Given the description of an element on the screen output the (x, y) to click on. 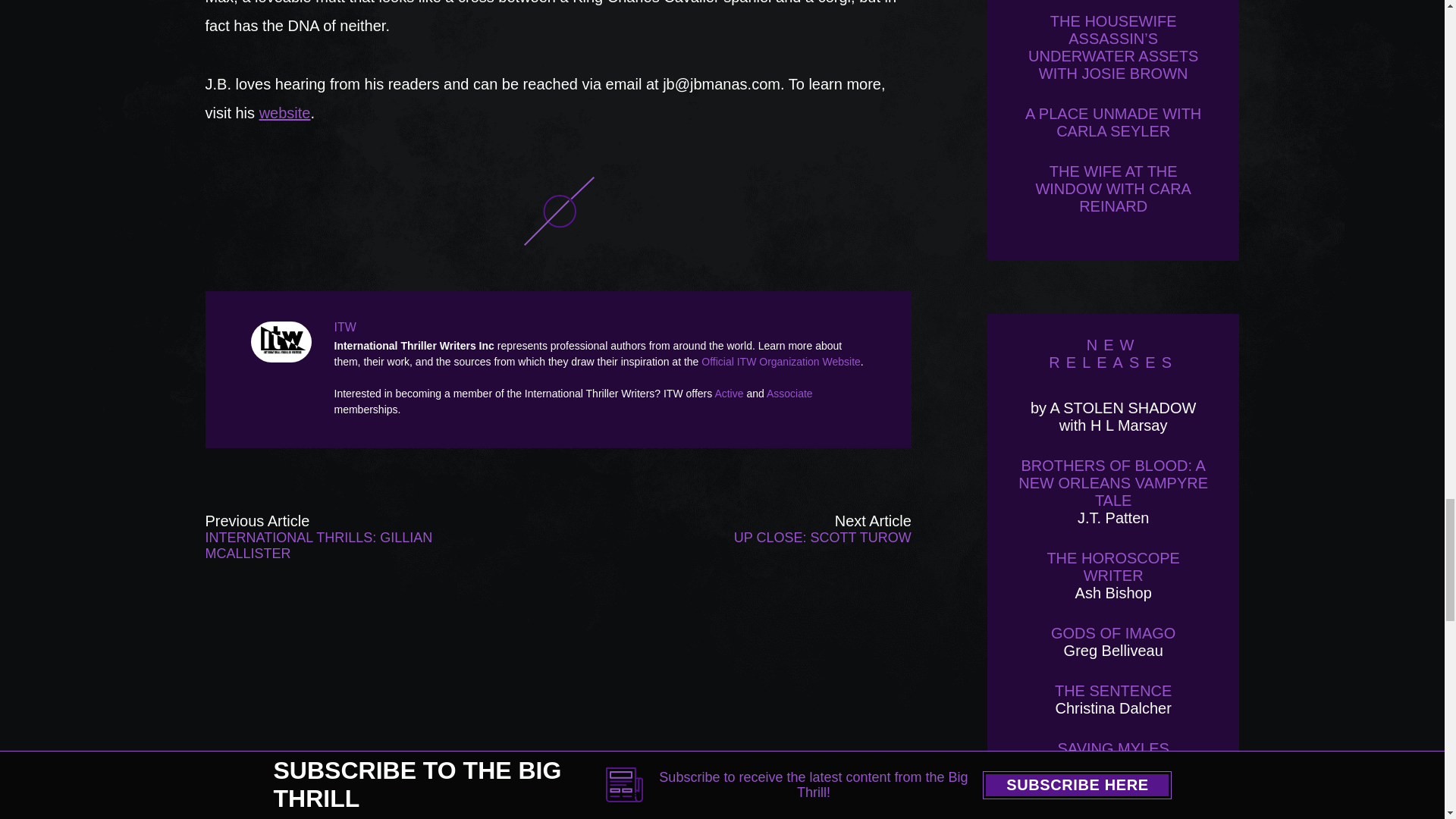
International Thrills: Gillian McAllister (346, 536)
Up Close: Scott Turow (769, 536)
ITW (284, 341)
